Given the description of an element on the screen output the (x, y) to click on. 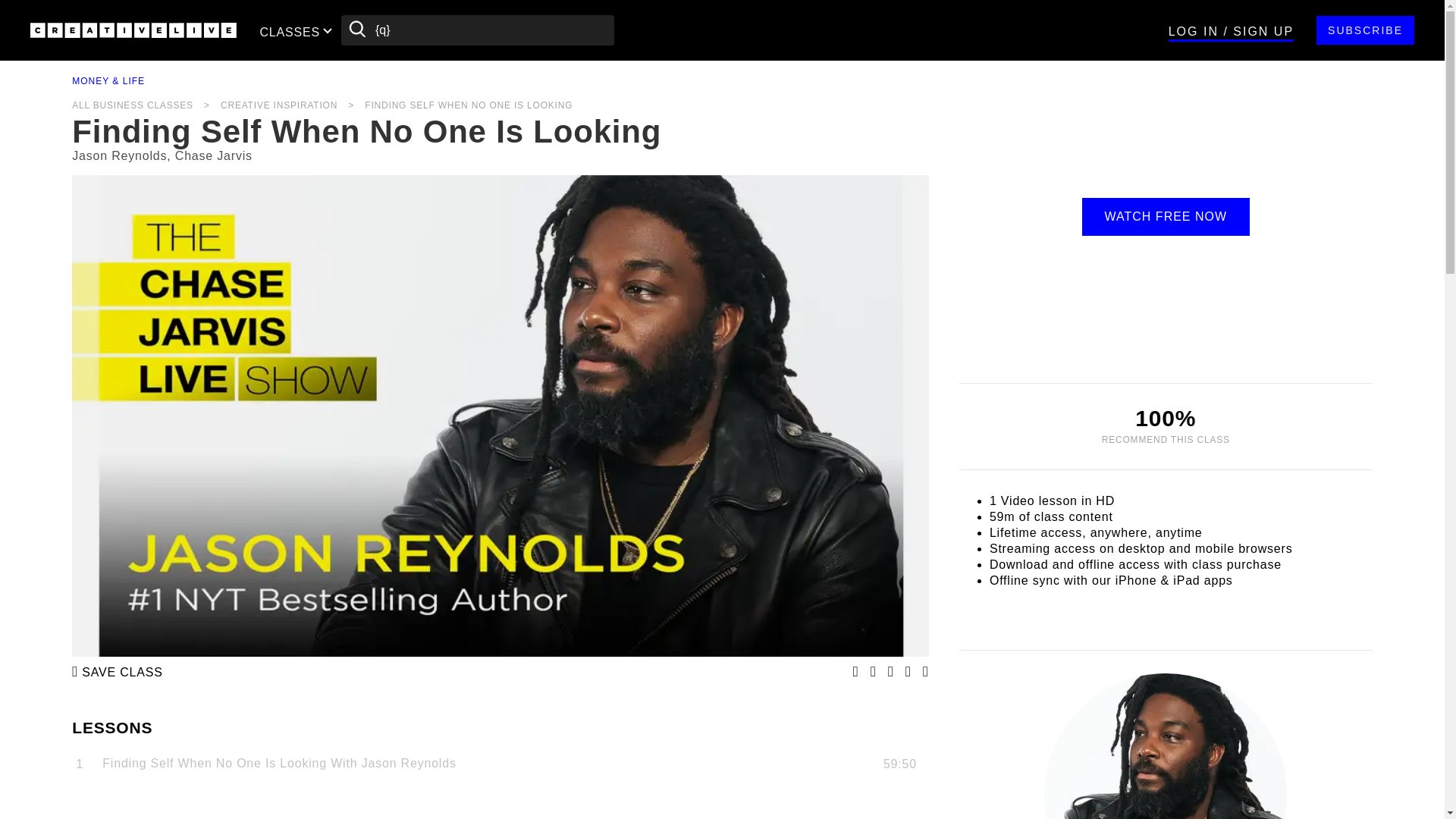
Chase Jarvis (212, 155)
